Given the description of an element on the screen output the (x, y) to click on. 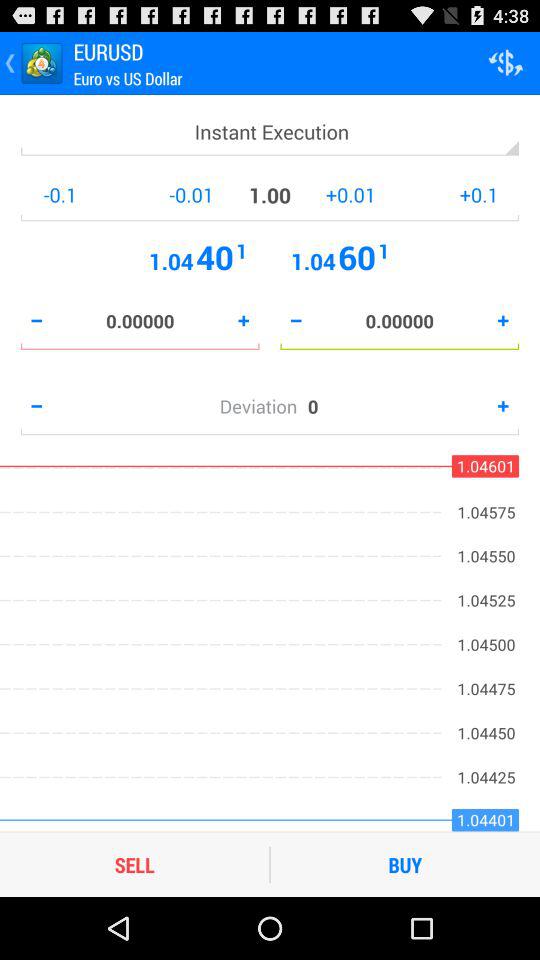
turn off the item at the bottom right corner (405, 864)
